Given the description of an element on the screen output the (x, y) to click on. 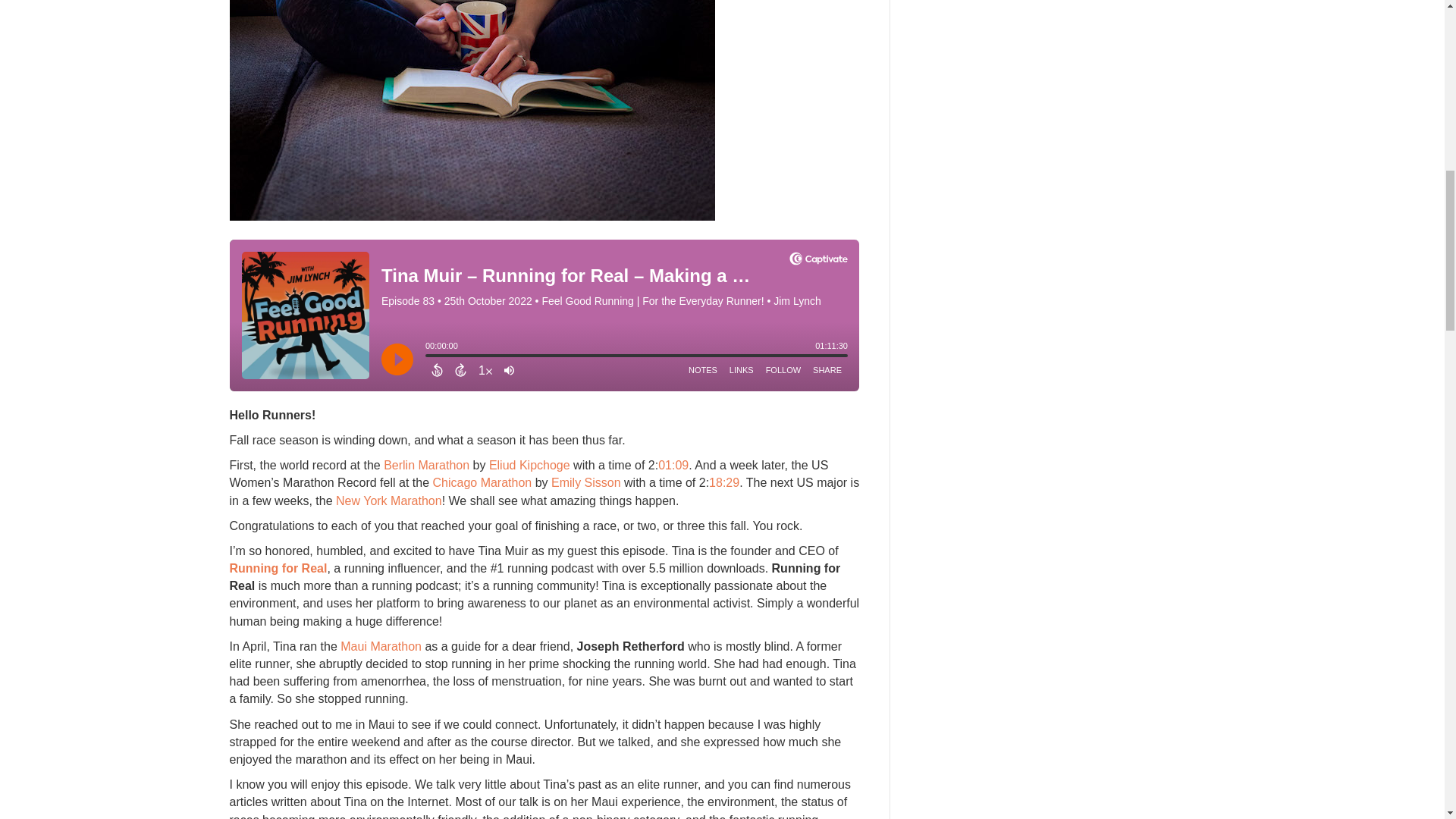
Eliud Kipchoge (529, 464)
Chicago Marathon (481, 481)
18:29 (724, 481)
New York Marathon (389, 500)
Emily Sisson (586, 481)
Running for Real (277, 567)
Maui Marathon (381, 645)
01:09 (673, 464)
Berlin Marathon (426, 464)
